Given the description of an element on the screen output the (x, y) to click on. 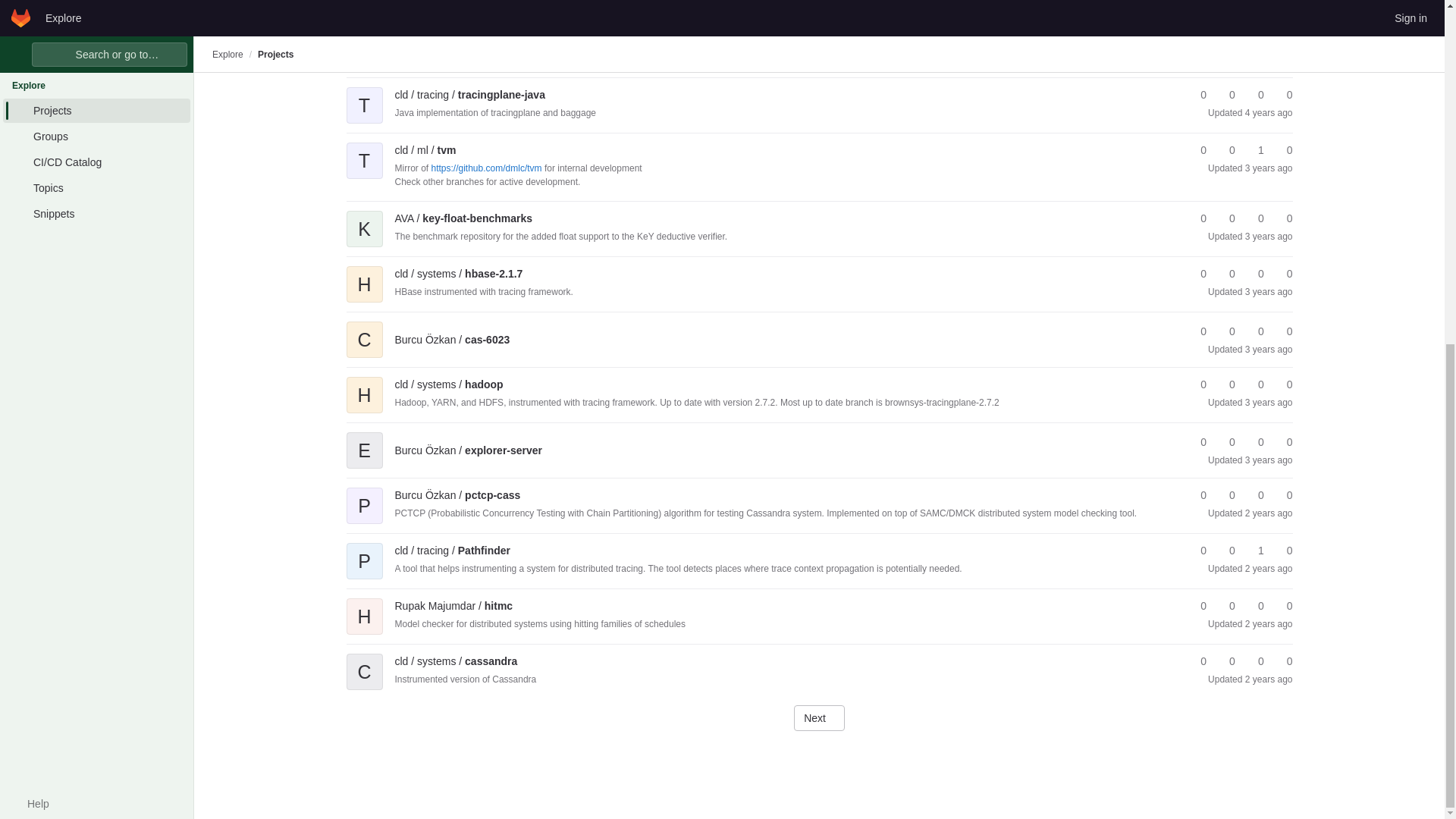
Help (30, 215)
